Given the description of an element on the screen output the (x, y) to click on. 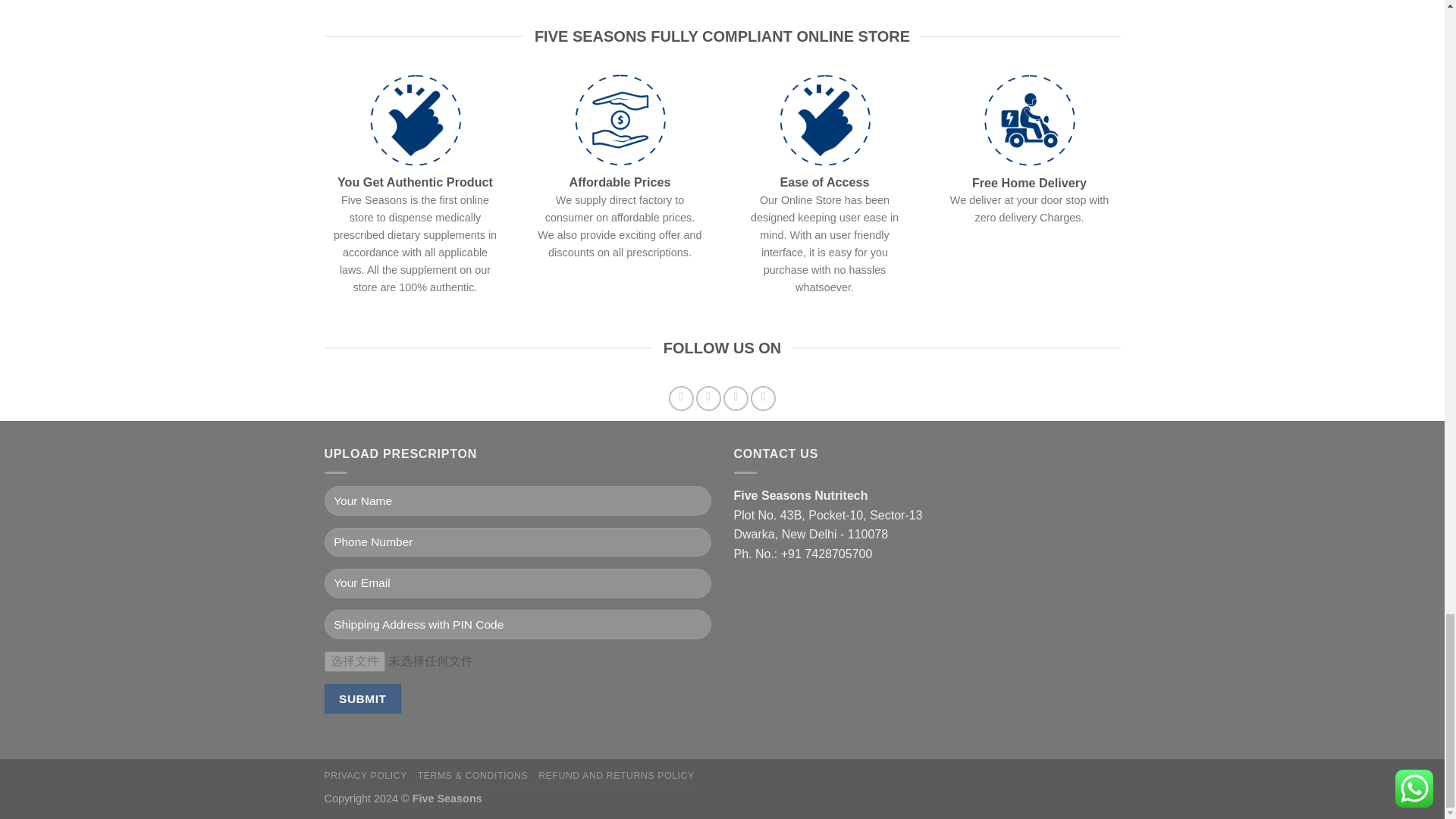
Submit (362, 698)
Follow on Facebook (681, 398)
PRIVACY POLICY (365, 775)
Follow on Instagram (707, 398)
Submit (362, 698)
Send us an email (763, 398)
REFUND AND RETURNS POLICY (616, 775)
Follow on Twitter (735, 398)
